Given the description of an element on the screen output the (x, y) to click on. 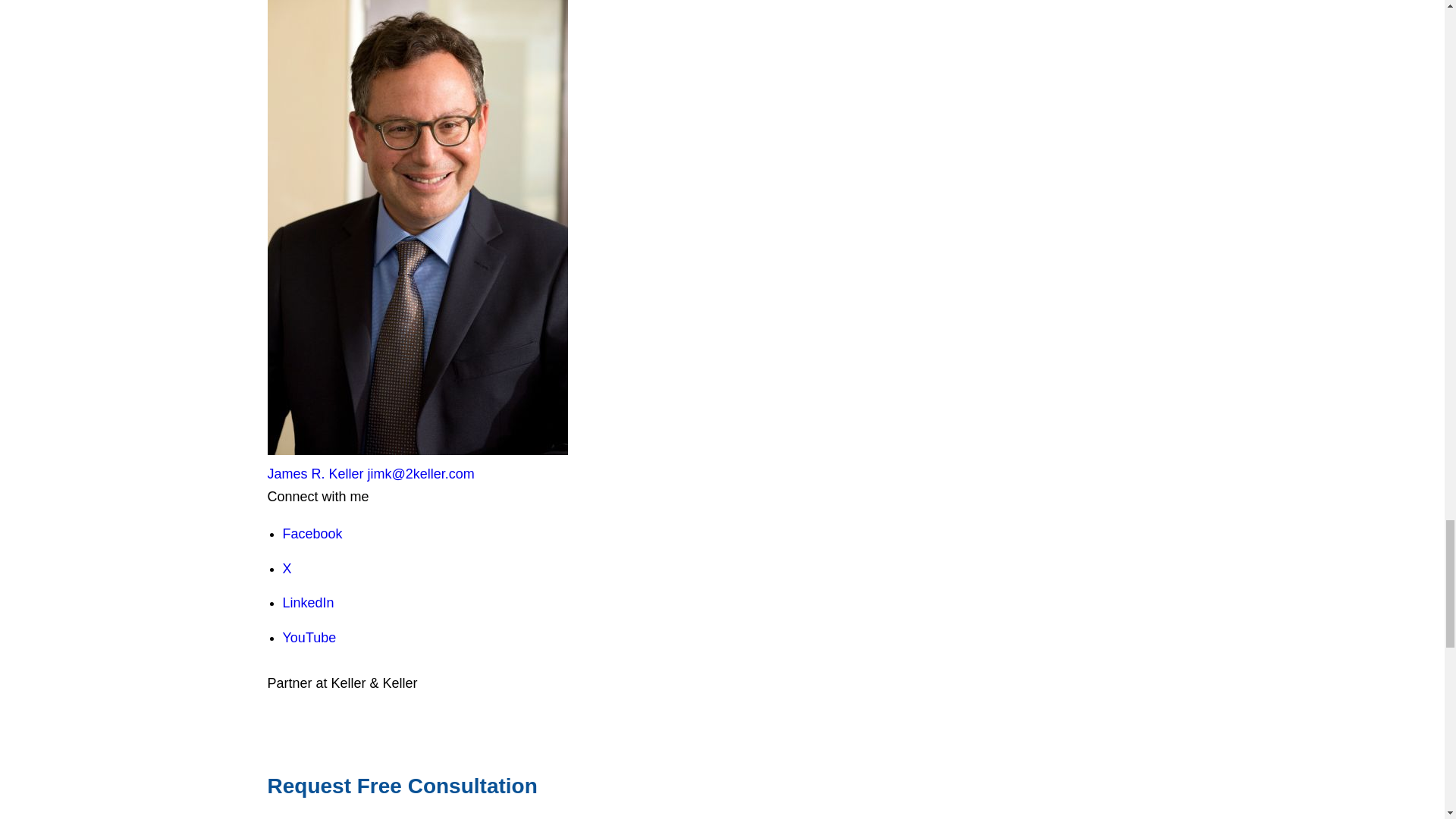
Find me on Facebook (312, 533)
Watch me on YouTube (309, 637)
Connect with me on LinkedIn (307, 602)
